Given the description of an element on the screen output the (x, y) to click on. 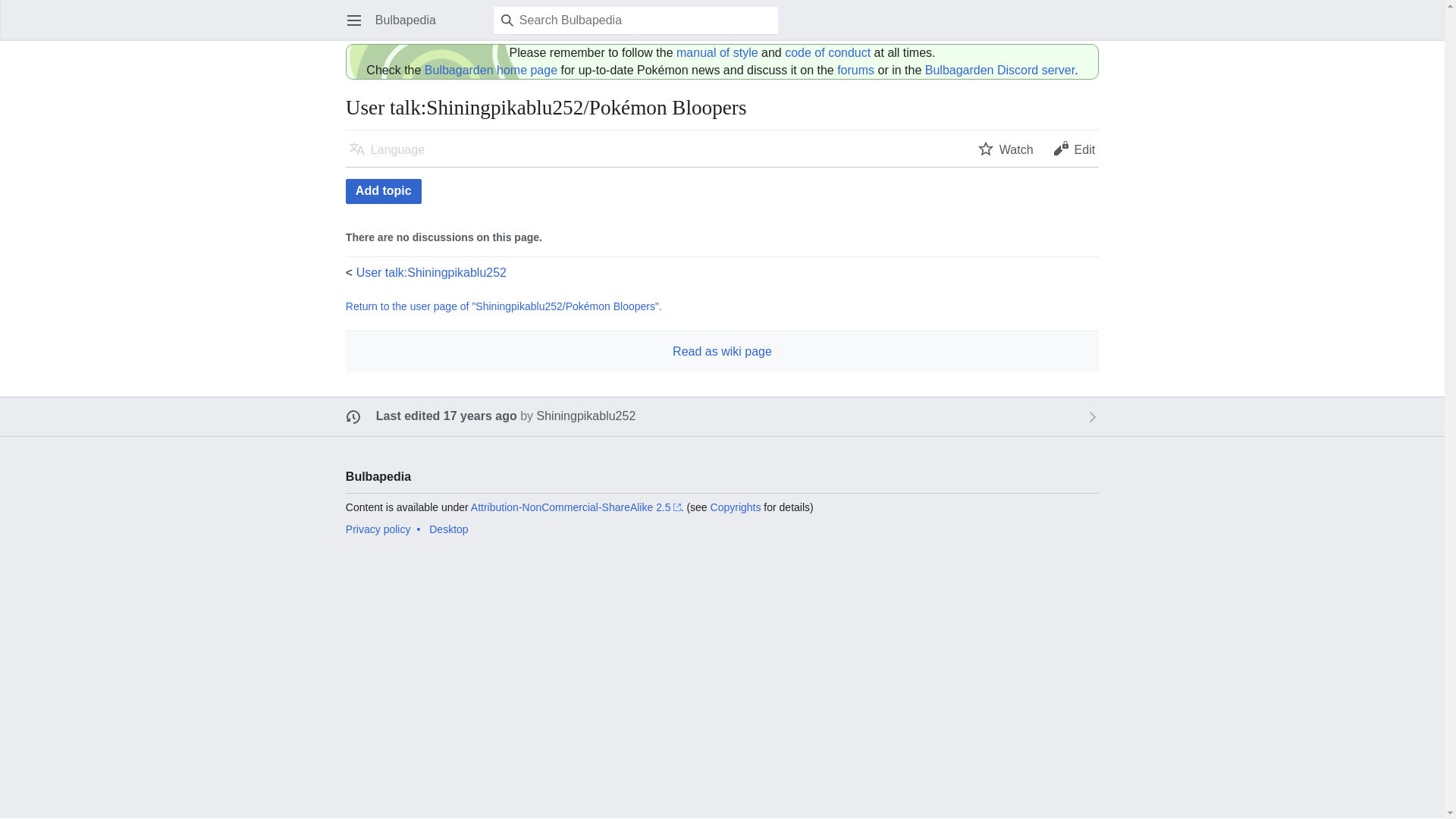
code of conduct (827, 51)
Bulbagarden Discord server (999, 69)
forums (856, 69)
Bulbagarden home page (491, 69)
Bulbapedia:Code of conduct (827, 51)
Watch (1005, 148)
User talk:Shiningpikablu252 (431, 272)
Edit the lead section of this page (1074, 148)
Open main menu (353, 20)
Watch (1005, 148)
